Given the description of an element on the screen output the (x, y) to click on. 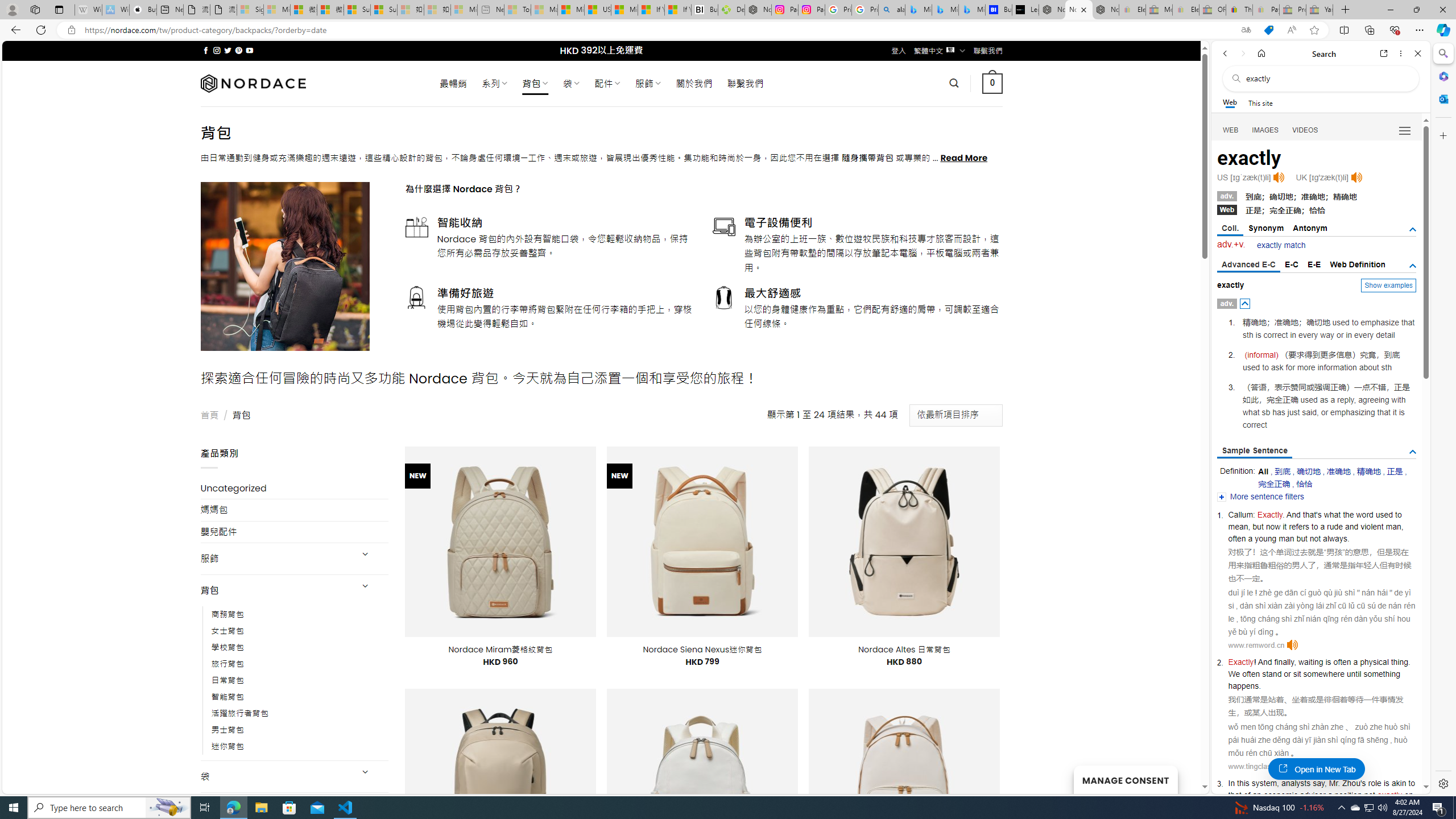
Microsoft Services Agreement - Sleeping (277, 9)
WEB (1231, 130)
adviser (1313, 794)
MANAGE CONSENT (1125, 779)
Show translate options (1245, 29)
Follow on Instagram (216, 50)
now (1273, 526)
something (1381, 673)
Threats and offensive language policy | eBay (1239, 9)
